Given the description of an element on the screen output the (x, y) to click on. 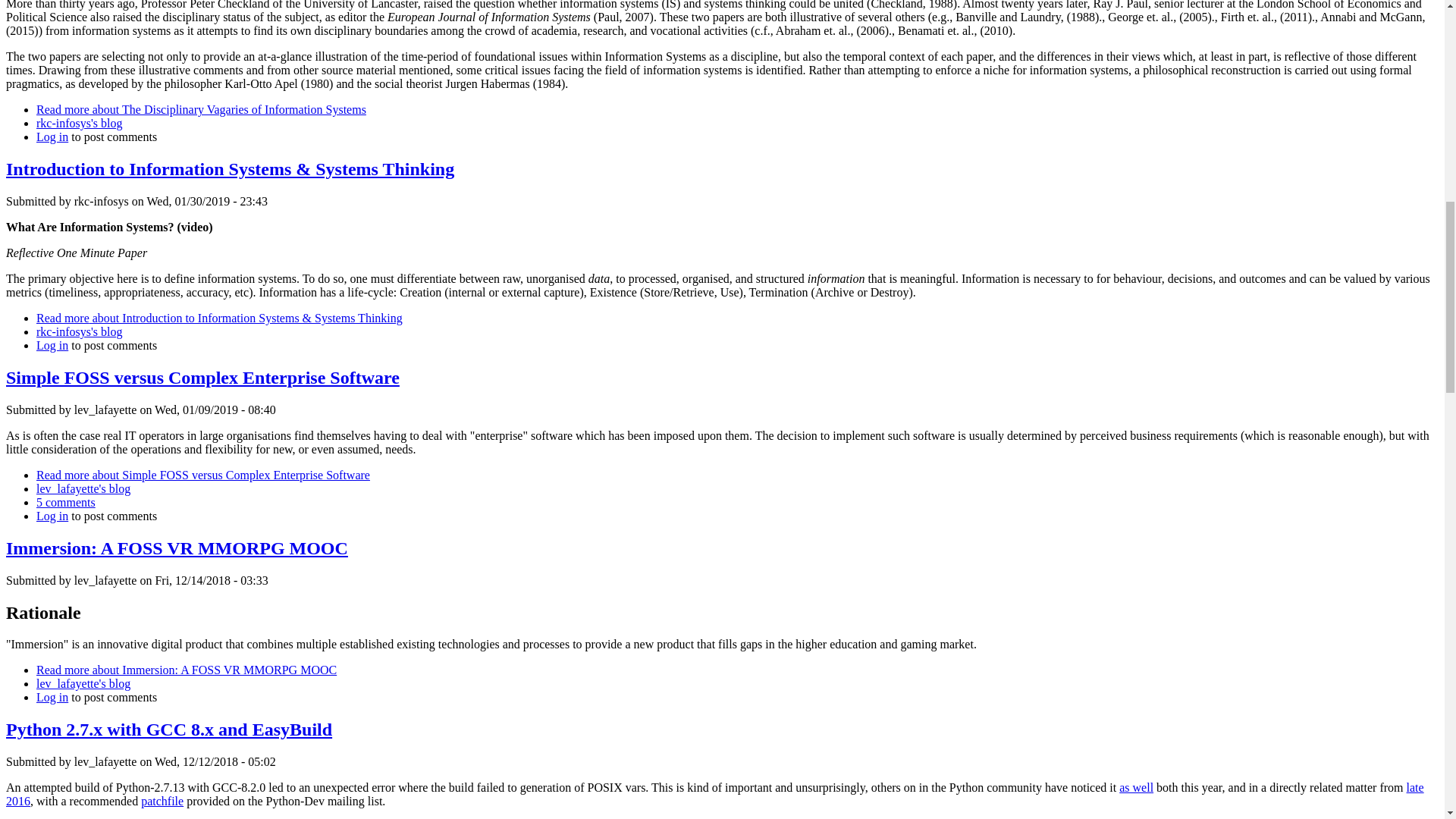
Simple FOSS versus Complex Enterprise Software (201, 377)
Read rkc-infosys's latest blog entries. (79, 331)
Simple FOSS versus Complex Enterprise Software (202, 474)
Read rkc-infosys's latest blog entries. (79, 123)
Log in (52, 697)
rkc-infosys's blog (79, 331)
Jump to the first comment of this posting. (66, 502)
The Disciplinary Vagaries of Information Systems (201, 109)
Read more about Immersion: A FOSS VR MMORPG MOOC (186, 669)
